Given the description of an element on the screen output the (x, y) to click on. 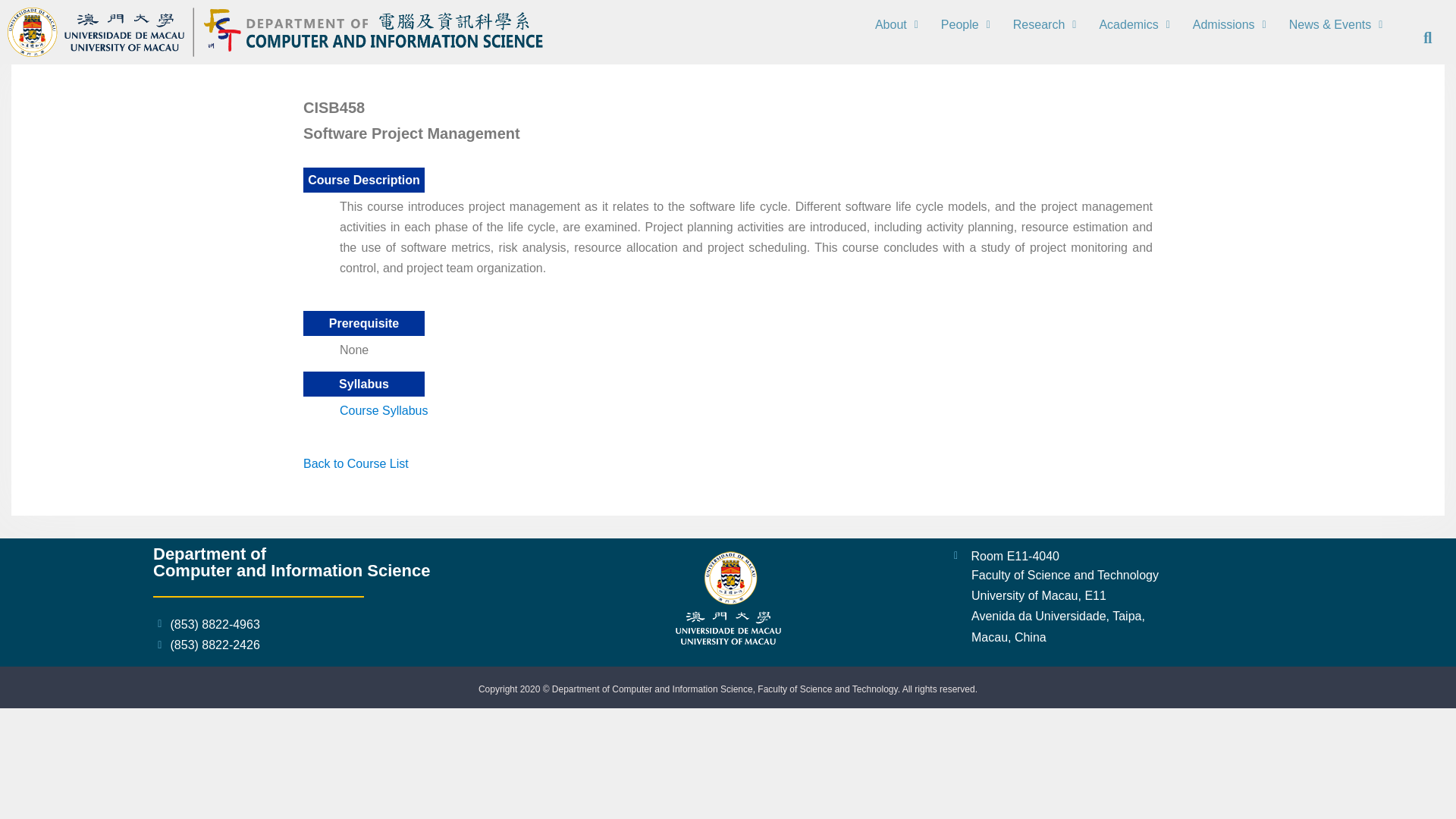
Research (1044, 24)
Admissions (1229, 24)
Course Syllabus (383, 410)
Back to Course List (355, 463)
Search (1418, 37)
Academics (1133, 24)
People (965, 24)
About (896, 24)
